Given the description of an element on the screen output the (x, y) to click on. 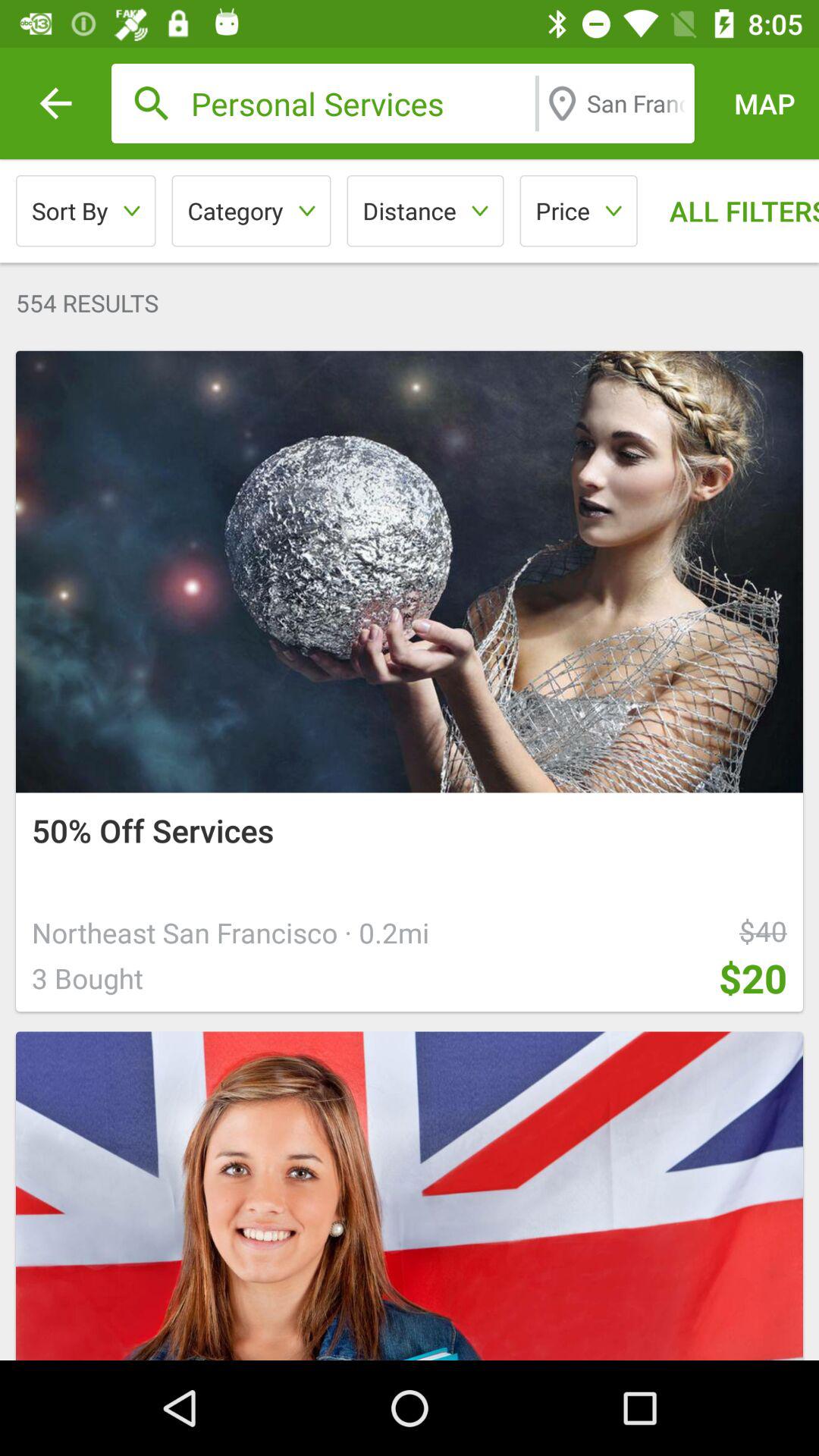
press the icon above the sort by icon (55, 103)
